Given the description of an element on the screen output the (x, y) to click on. 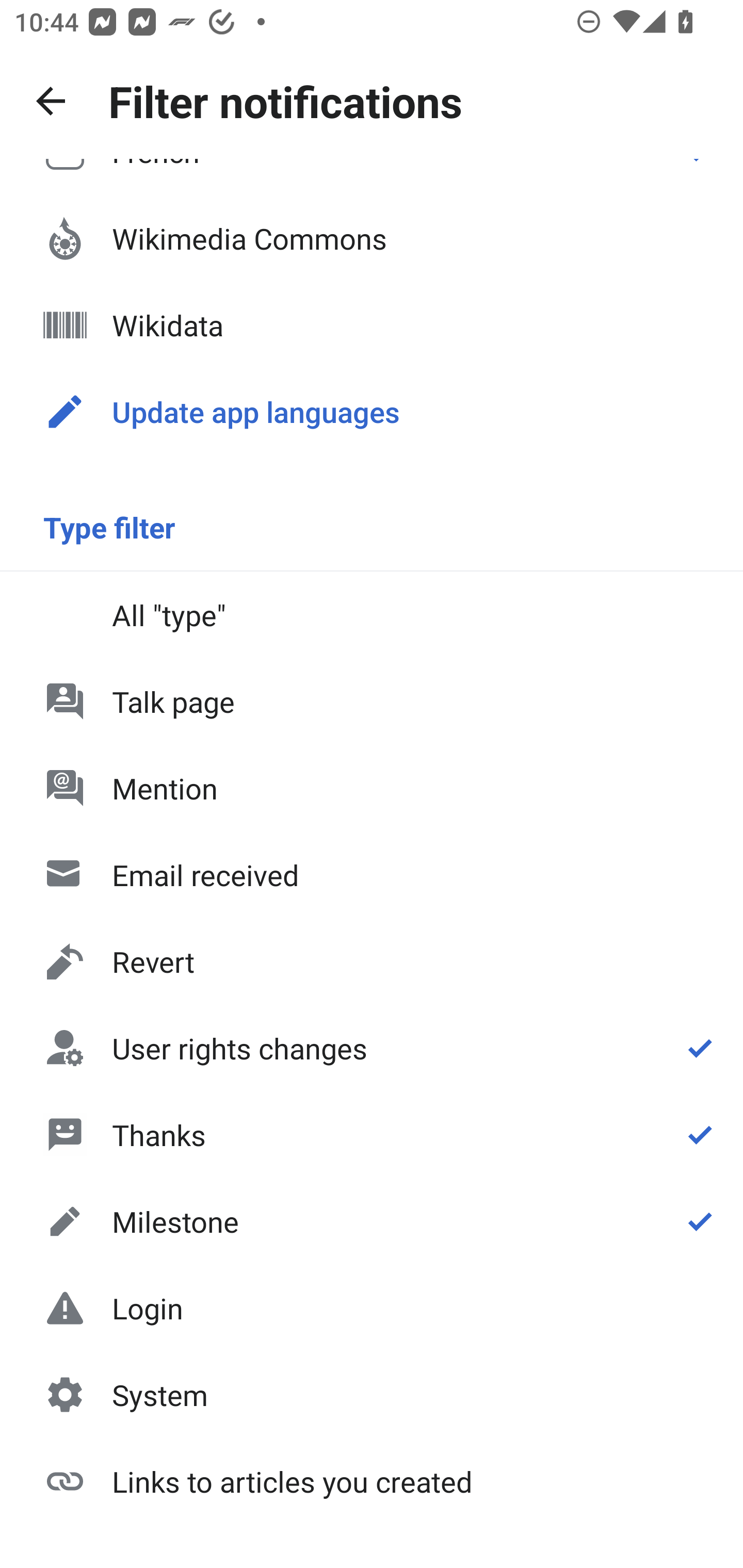
Navigate up (50, 101)
Wikimedia Commons (371, 238)
Wikidata (371, 325)
Update app languages (371, 411)
All "type" (371, 614)
Talk page (371, 701)
Mention (371, 787)
Email received (371, 874)
Revert (371, 961)
User rights changes (371, 1048)
Thanks (371, 1134)
Milestone (371, 1221)
Login (371, 1308)
System (371, 1394)
Links to articles you created (371, 1480)
